Given the description of an element on the screen output the (x, y) to click on. 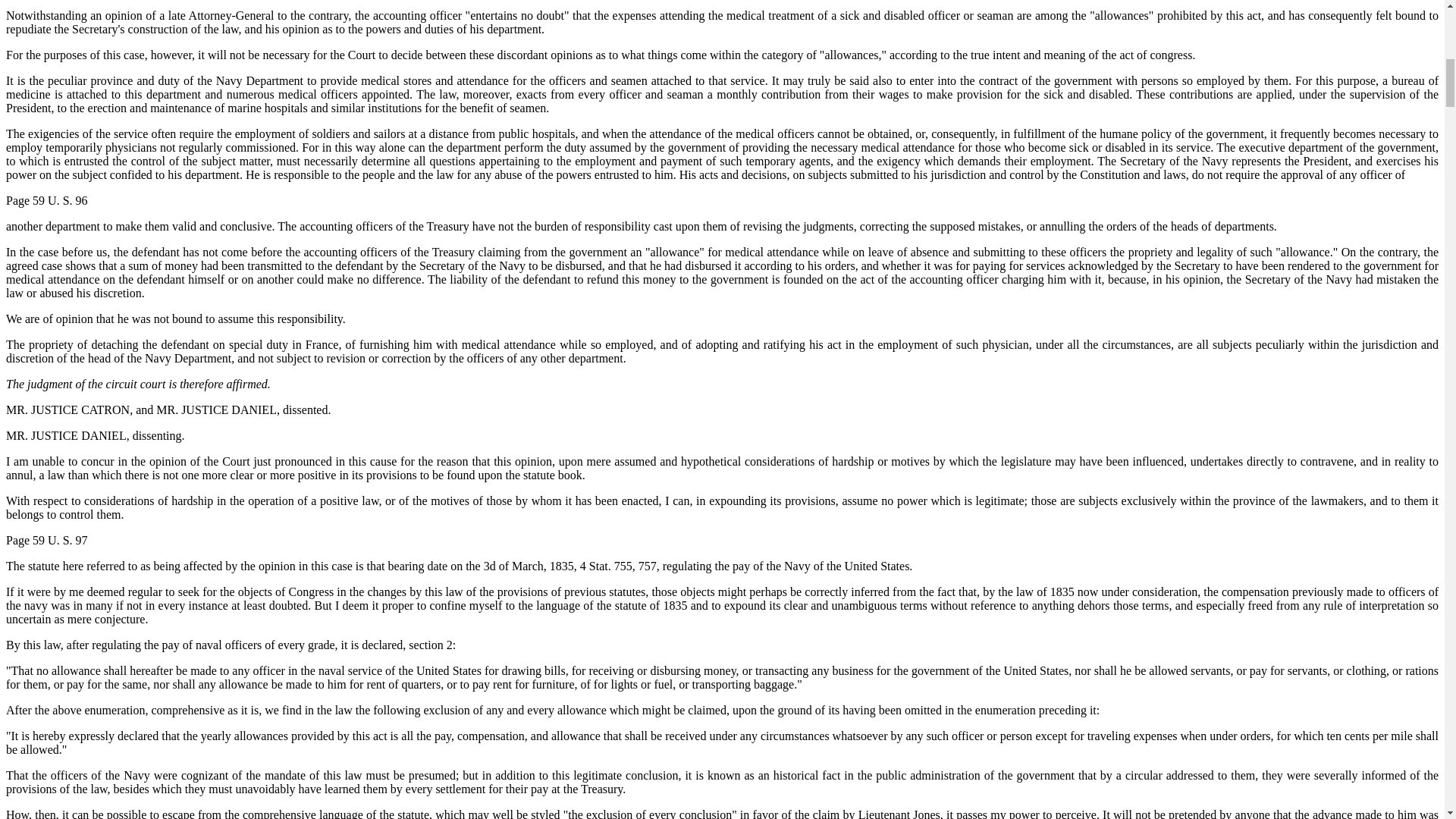
Page 59 U. S. 96 (46, 200)
Page 59 U. S. 97 (46, 540)
